Given the description of an element on the screen output the (x, y) to click on. 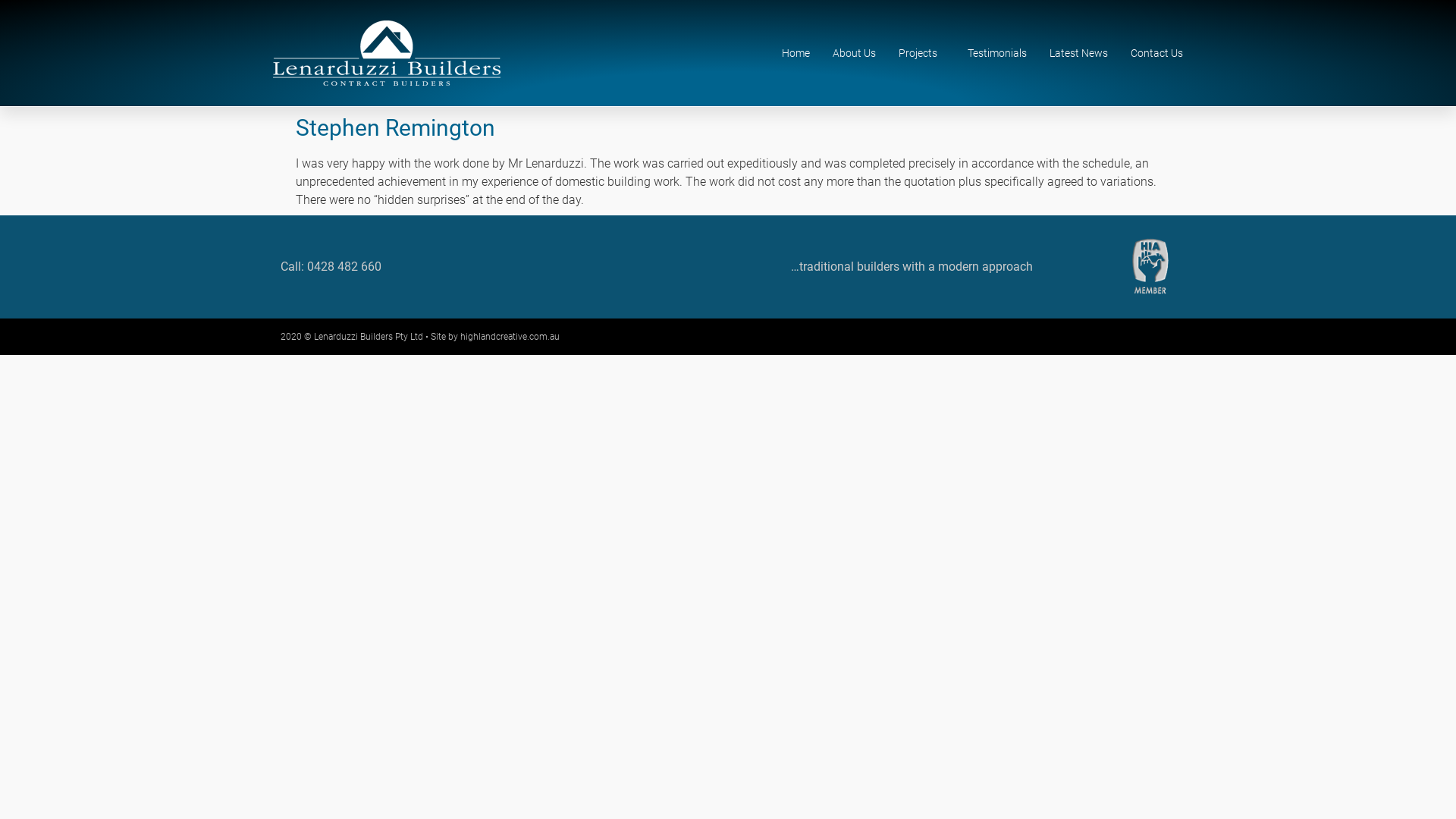
About Us Element type: text (853, 53)
Testimonials Element type: text (996, 53)
Projects Element type: text (921, 53)
Latest News Element type: text (1078, 53)
Contact Us Element type: text (1156, 53)
Home Element type: text (795, 53)
